Given the description of an element on the screen output the (x, y) to click on. 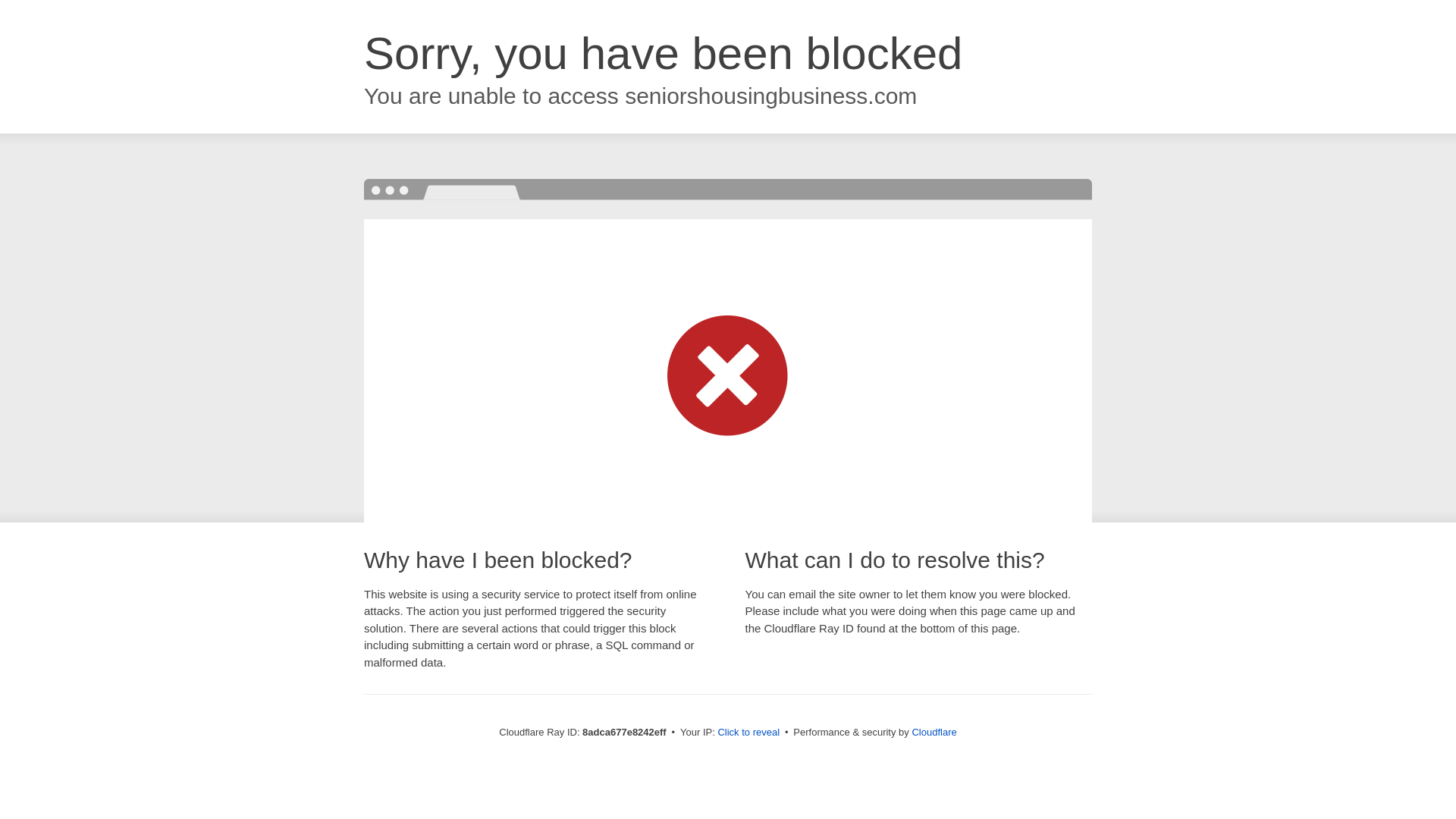
Cloudflare (933, 731)
Click to reveal (747, 732)
